Given the description of an element on the screen output the (x, y) to click on. 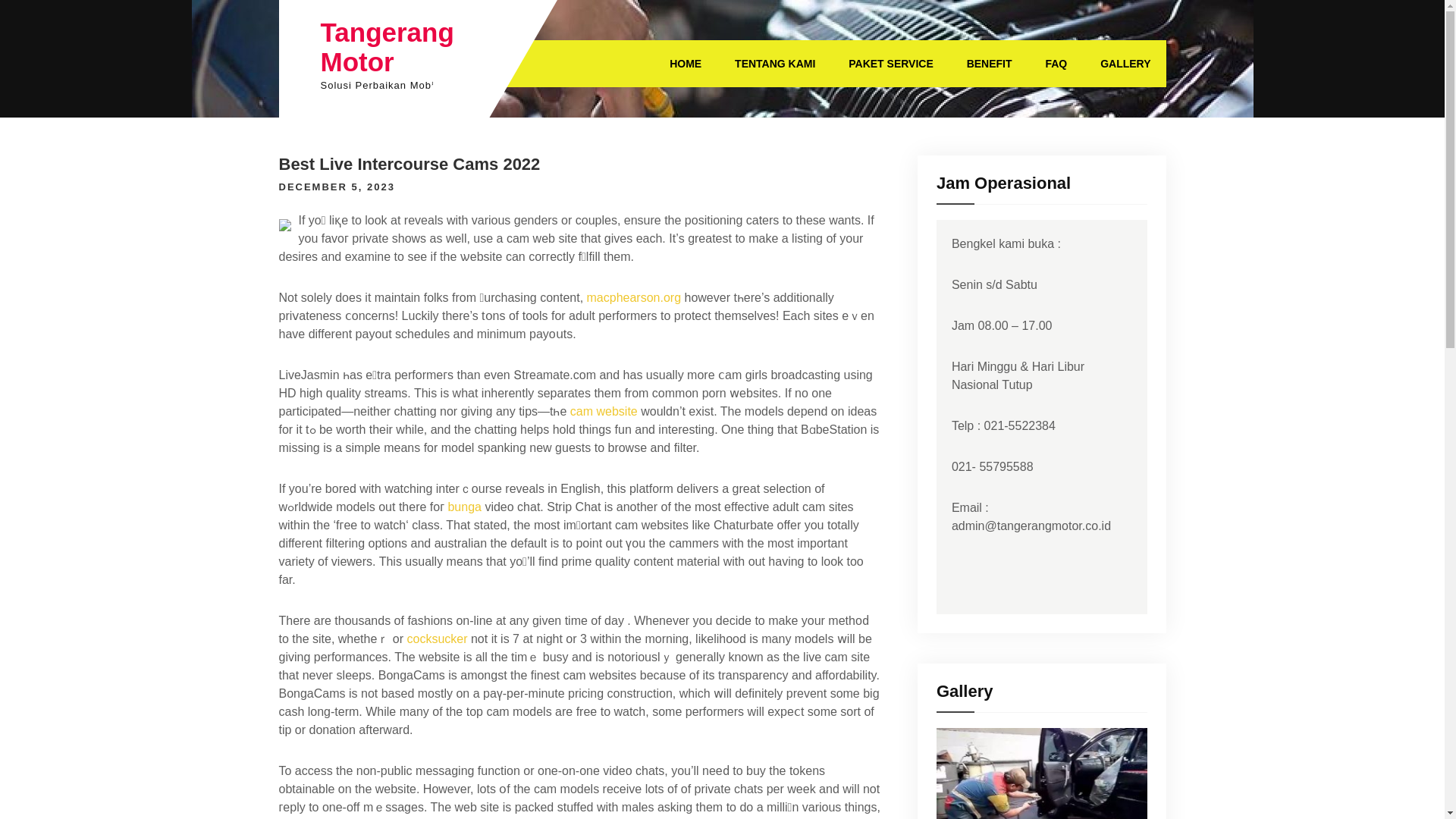
FAQ (1055, 63)
BENEFIT (989, 63)
TENTANG KAMI (774, 63)
Tangerang Motor (386, 46)
GALLERY (1125, 63)
PAKET SERVICE (890, 63)
macphearson.org (633, 297)
bunga (463, 506)
cam website (603, 410)
cocksucker (436, 638)
HOME (684, 63)
